Given the description of an element on the screen output the (x, y) to click on. 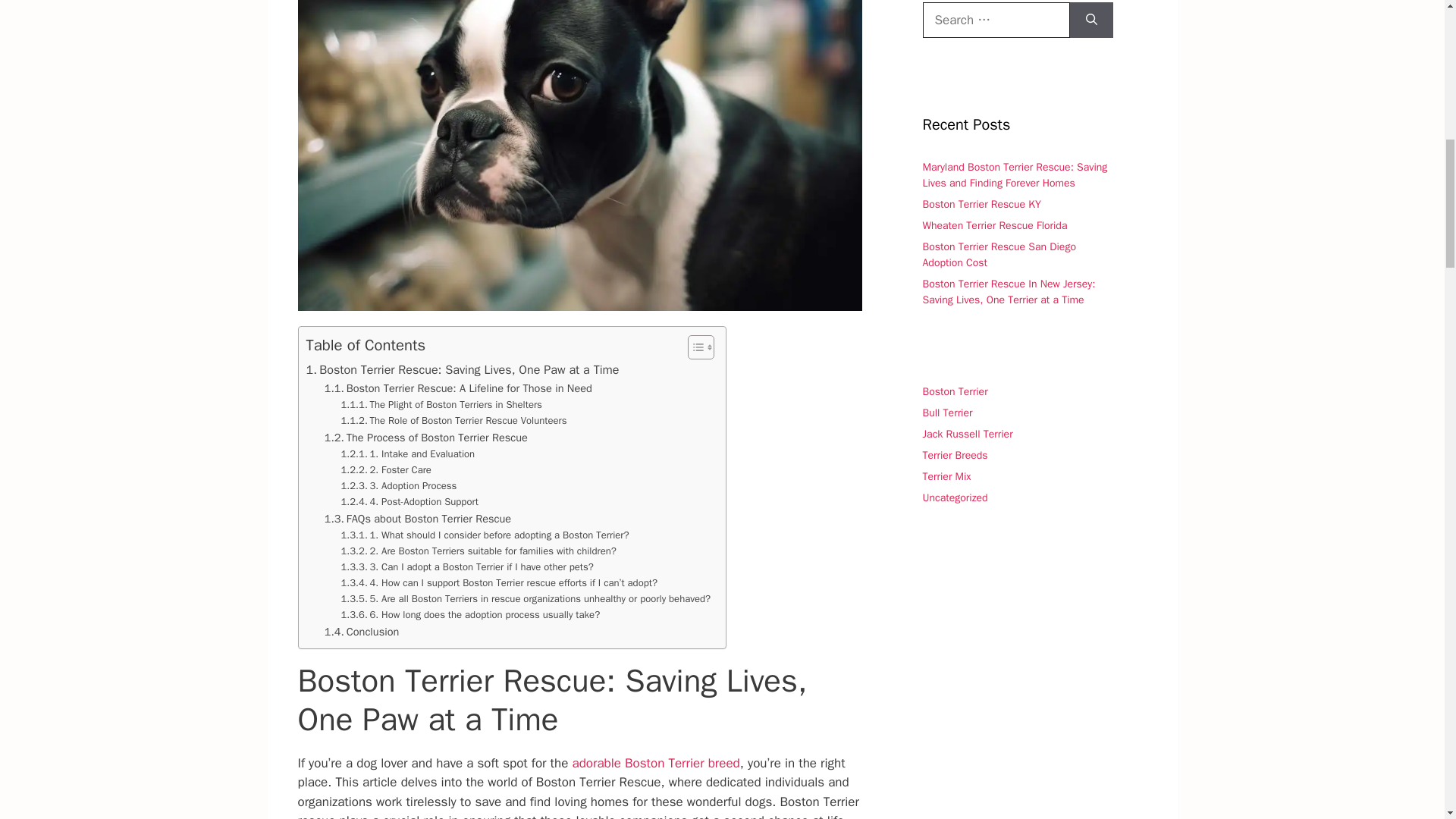
The Process of Boston Terrier Rescue (425, 437)
FAQs about Boston Terrier Rescue (417, 518)
1. Intake and Evaluation (408, 454)
Boston Terrier Rescue: Saving Lives, One Paw at a Time (462, 370)
3. Adoption Process (398, 486)
2. Are Boston Terriers suitable for families with children? (477, 551)
The Plight of Boston Terriers in Shelters (440, 405)
Boston Terrier Rescue: A Lifeline for Those in Need (458, 388)
Boston Terrier Rescue: A Lifeline for Those in Need (458, 388)
The Role of Boston Terrier Rescue Volunteers (453, 421)
